Given the description of an element on the screen output the (x, y) to click on. 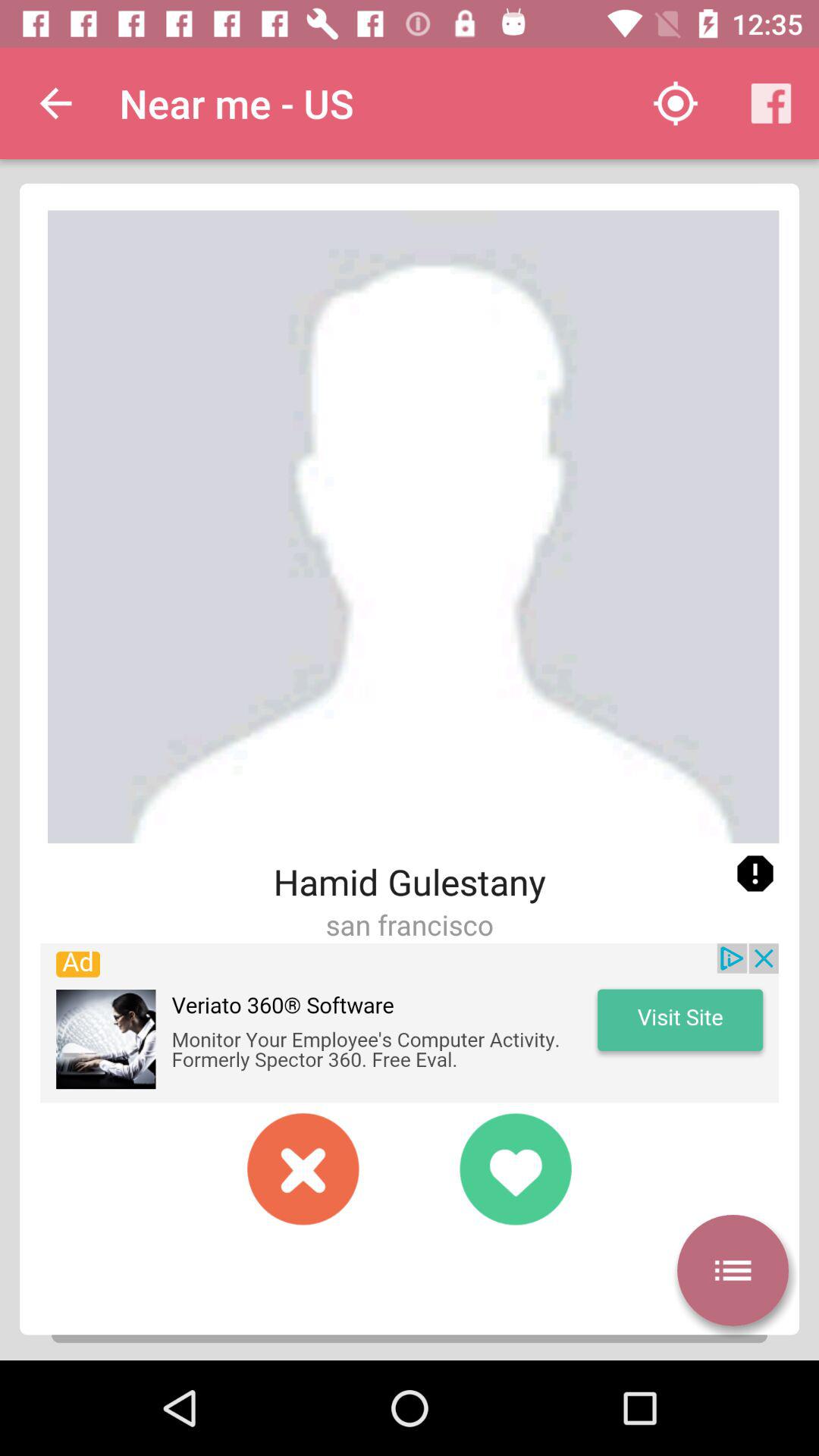
close option (303, 1169)
